Given the description of an element on the screen output the (x, y) to click on. 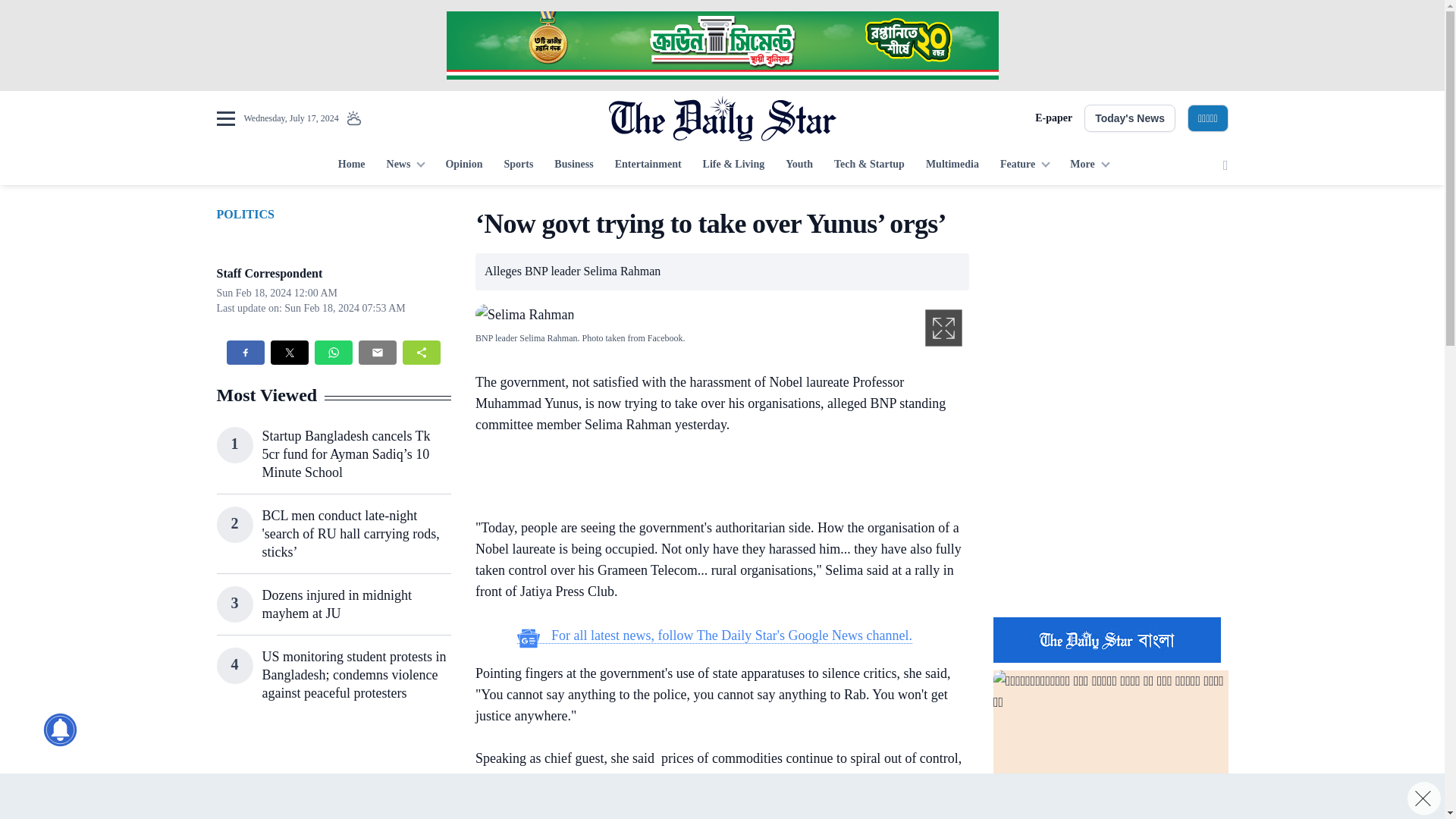
3rd party ad content (721, 45)
E-paper (1053, 117)
3rd party ad content (1110, 506)
3rd party ad content (714, 479)
Today's News (1129, 117)
News (405, 165)
3rd party ad content (713, 815)
3rd party ad content (721, 796)
Entertainment (647, 165)
Home (351, 165)
Business (573, 165)
3rd party ad content (332, 776)
Youth (799, 165)
Opinion (463, 165)
3rd party ad content (1110, 302)
